Given the description of an element on the screen output the (x, y) to click on. 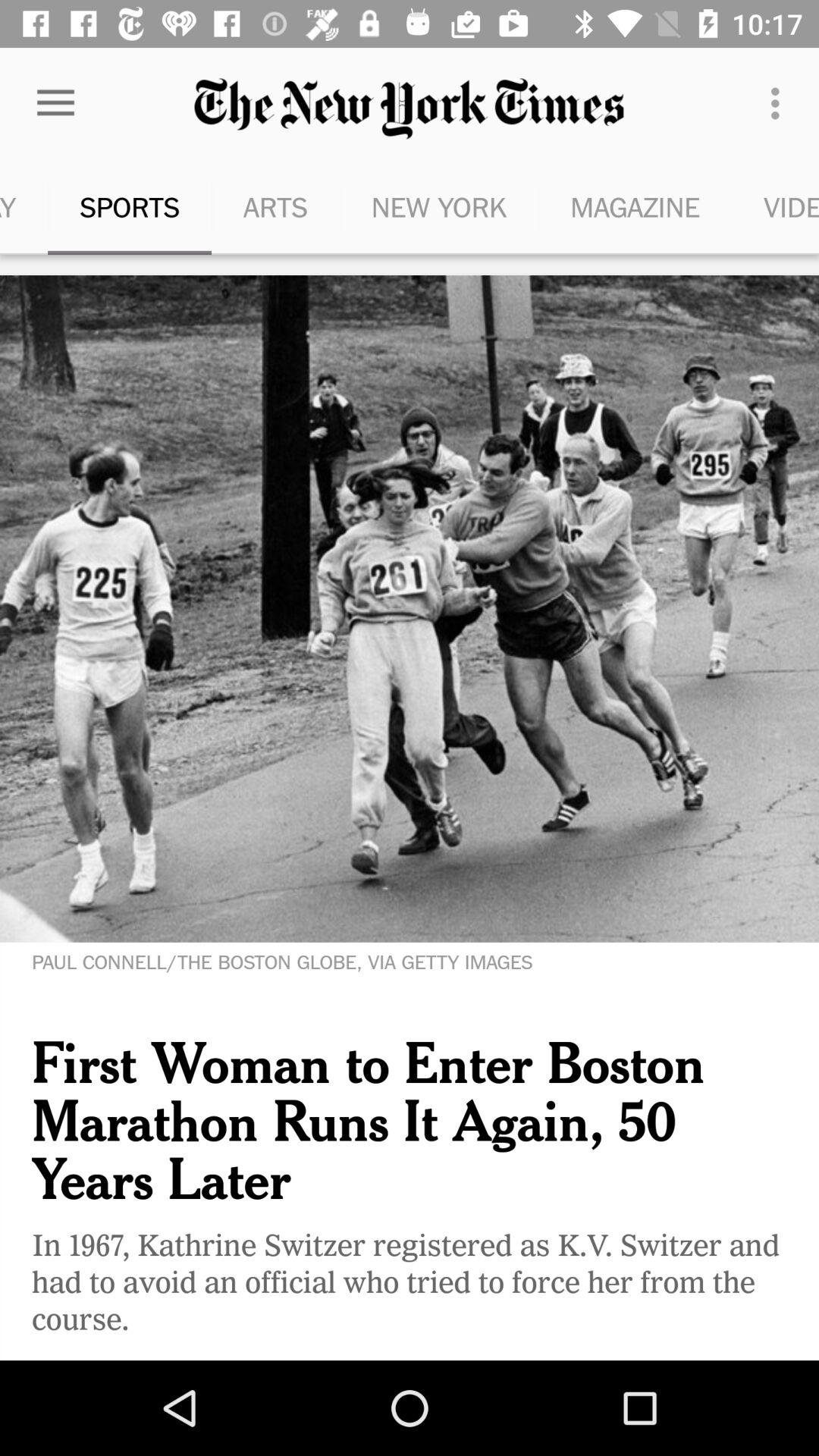
turn off icon to the left of arts icon (129, 206)
